Given the description of an element on the screen output the (x, y) to click on. 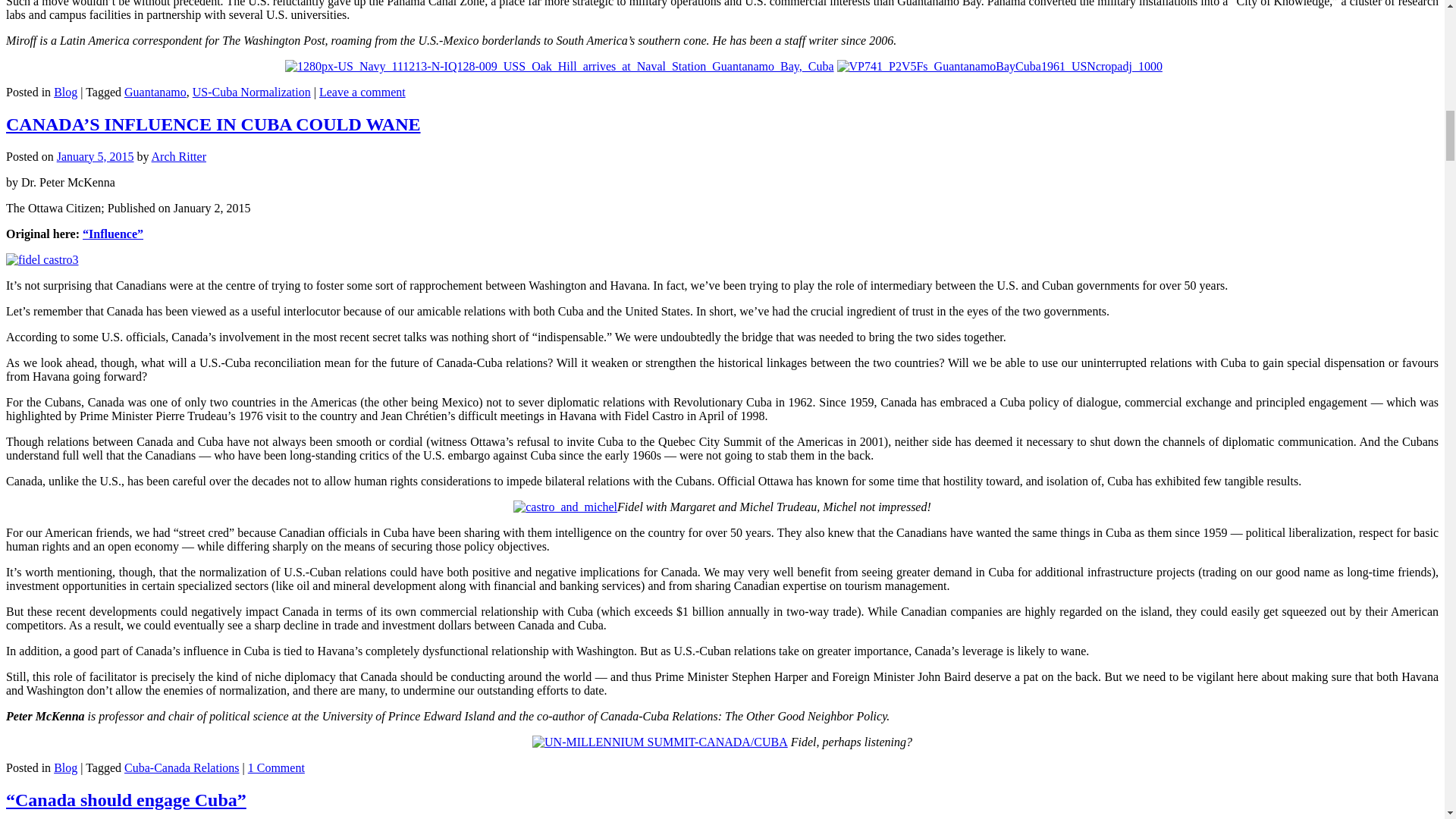
Leave a comment (362, 91)
Arch Ritter (178, 155)
US-Cuba Normalization (251, 91)
View all posts by Arch Ritter (178, 155)
Blog (65, 767)
Blog (65, 91)
January 5, 2015 (94, 155)
Cuba-Canada Relations (181, 767)
Guantanamo (154, 91)
1 Comment (275, 767)
